Given the description of an element on the screen output the (x, y) to click on. 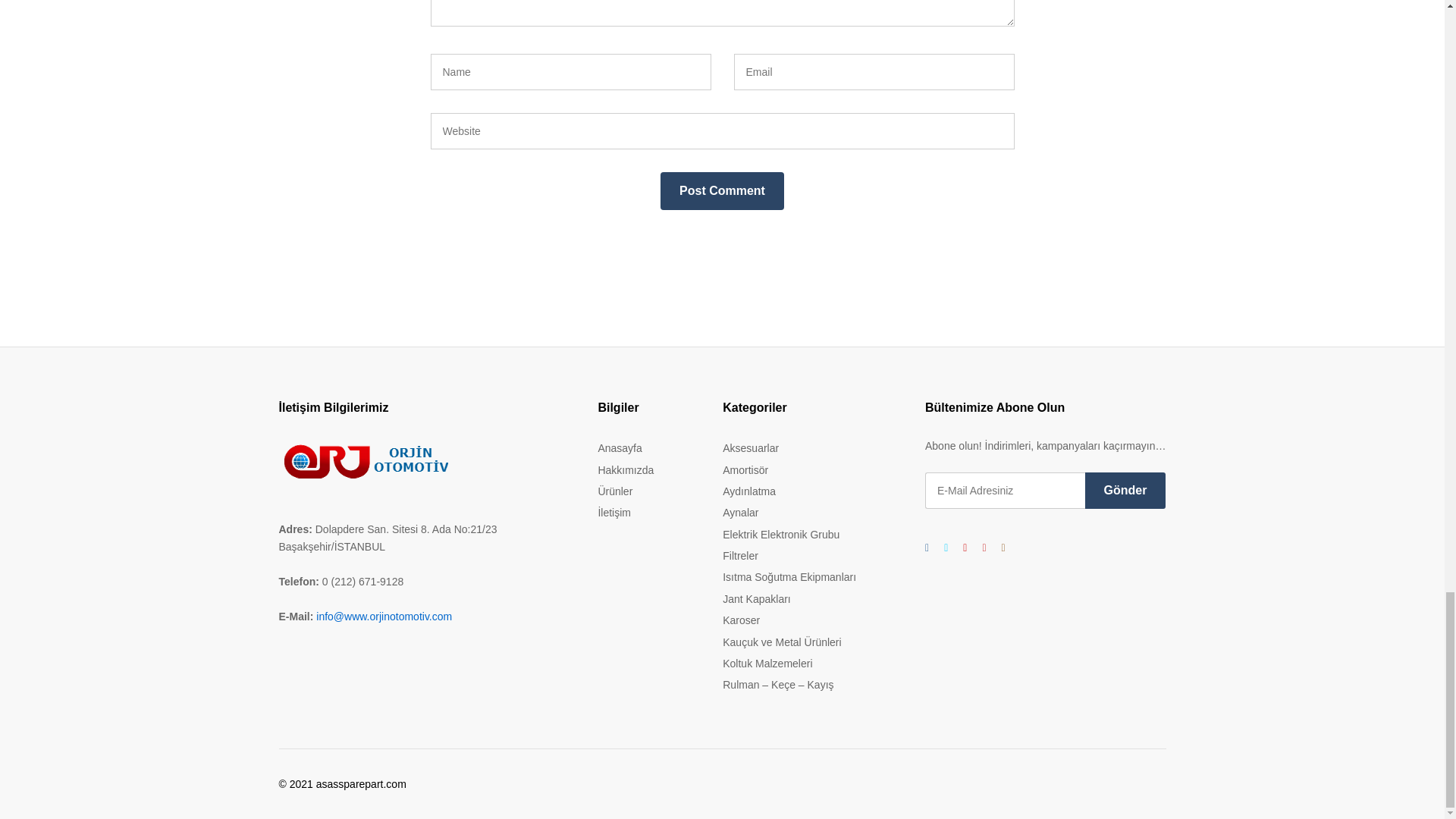
Facebook (926, 547)
Twitter (945, 547)
Youtube (983, 547)
Post Comment (722, 190)
Google Plus (964, 547)
Instagram (1001, 547)
